Given the description of an element on the screen output the (x, y) to click on. 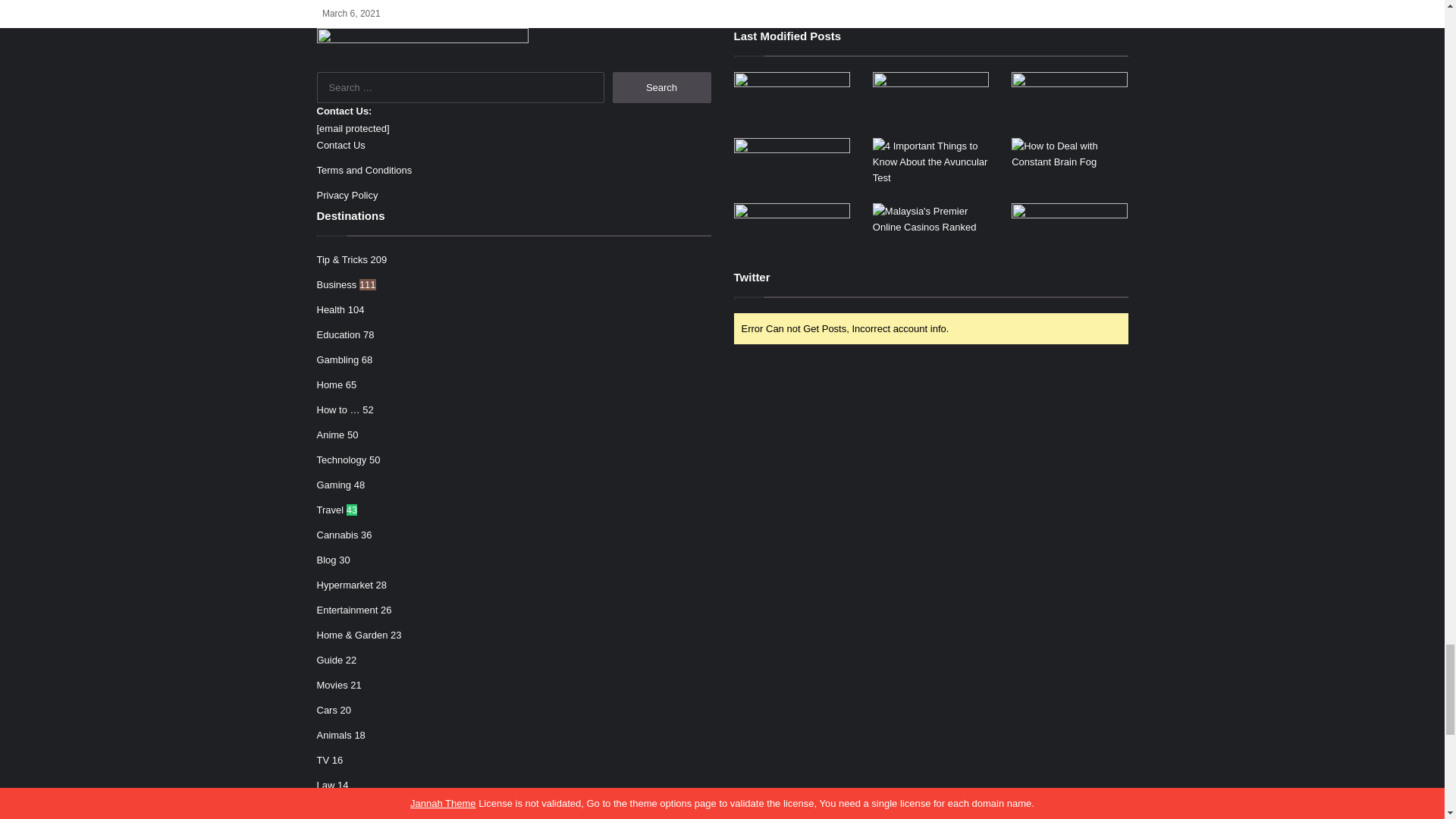
Search (661, 87)
Search (661, 87)
